Given the description of an element on the screen output the (x, y) to click on. 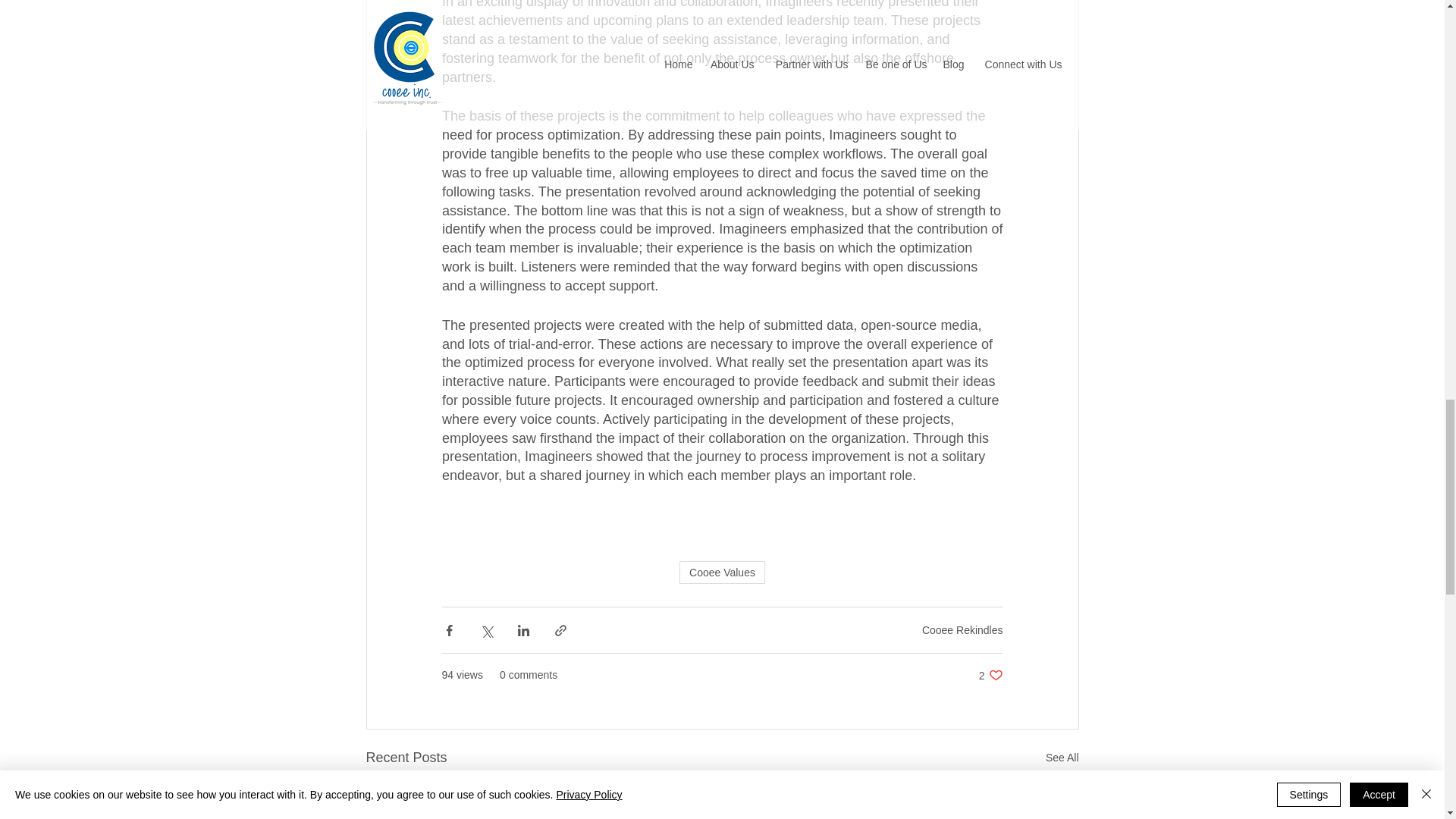
Cooee Values (990, 675)
Cooee Rekindles (722, 572)
See All (962, 630)
